Given the description of an element on the screen output the (x, y) to click on. 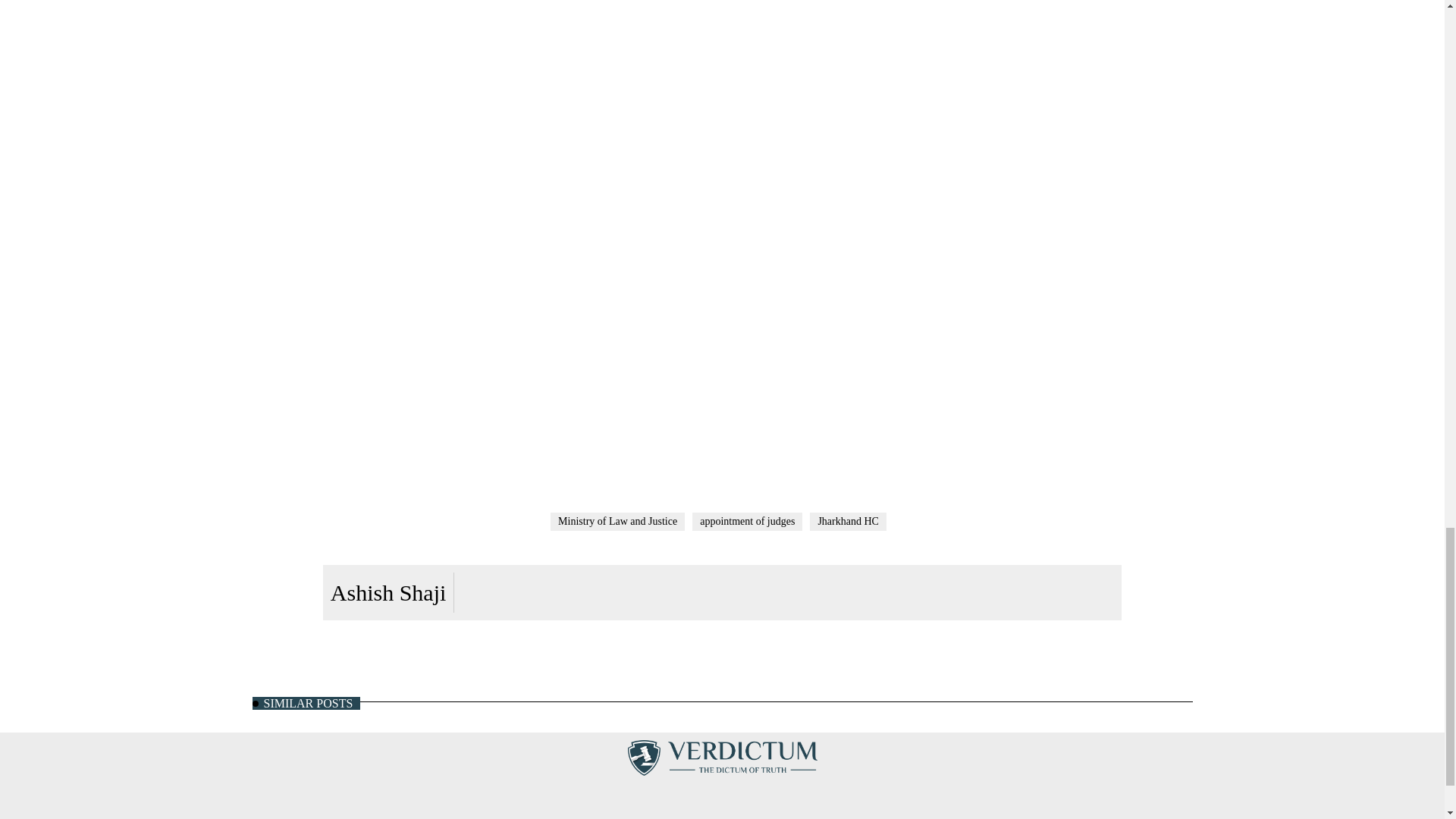
Verdictum (721, 757)
